Given the description of an element on the screen output the (x, y) to click on. 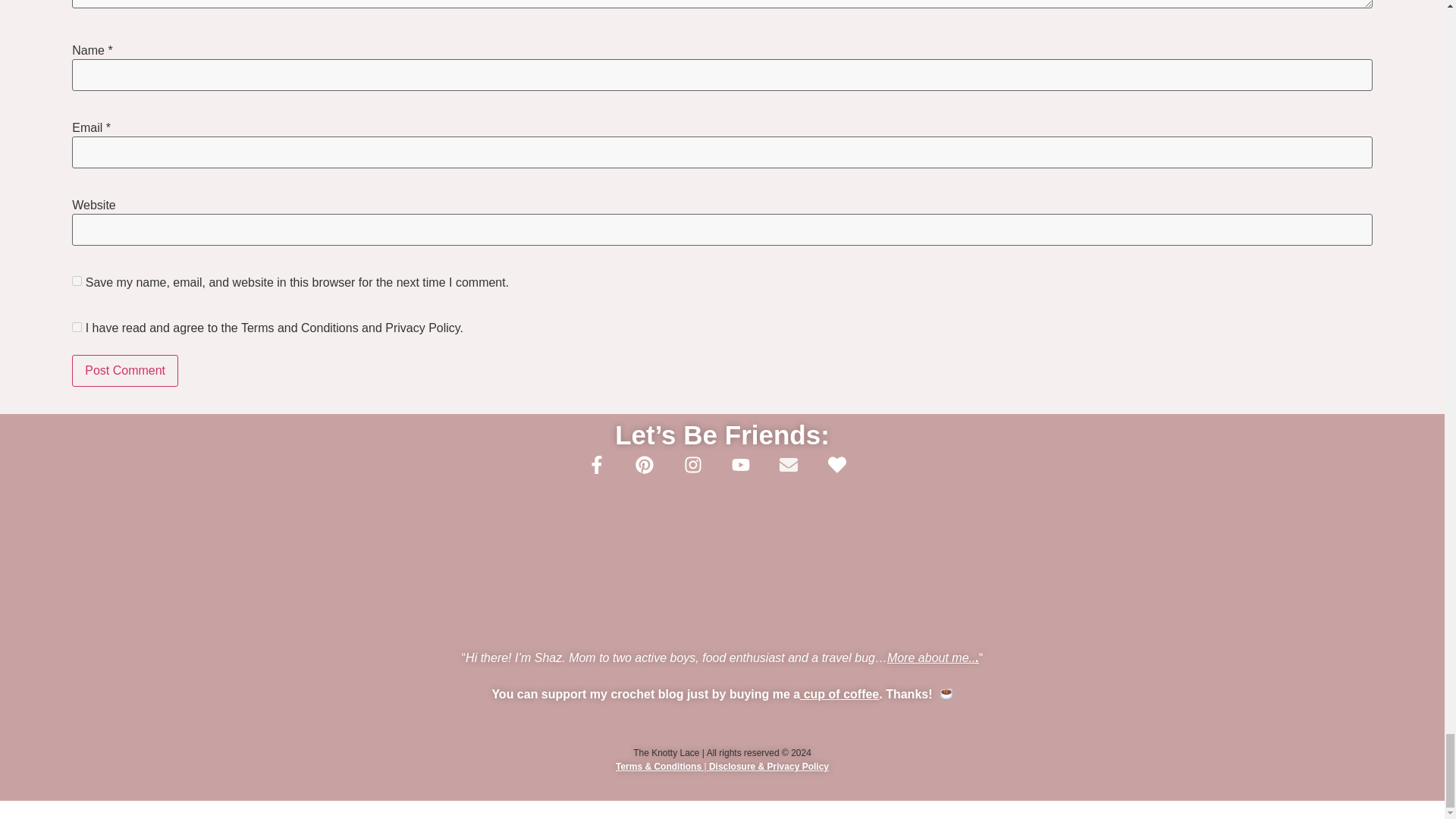
yes (76, 280)
